Given the description of an element on the screen output the (x, y) to click on. 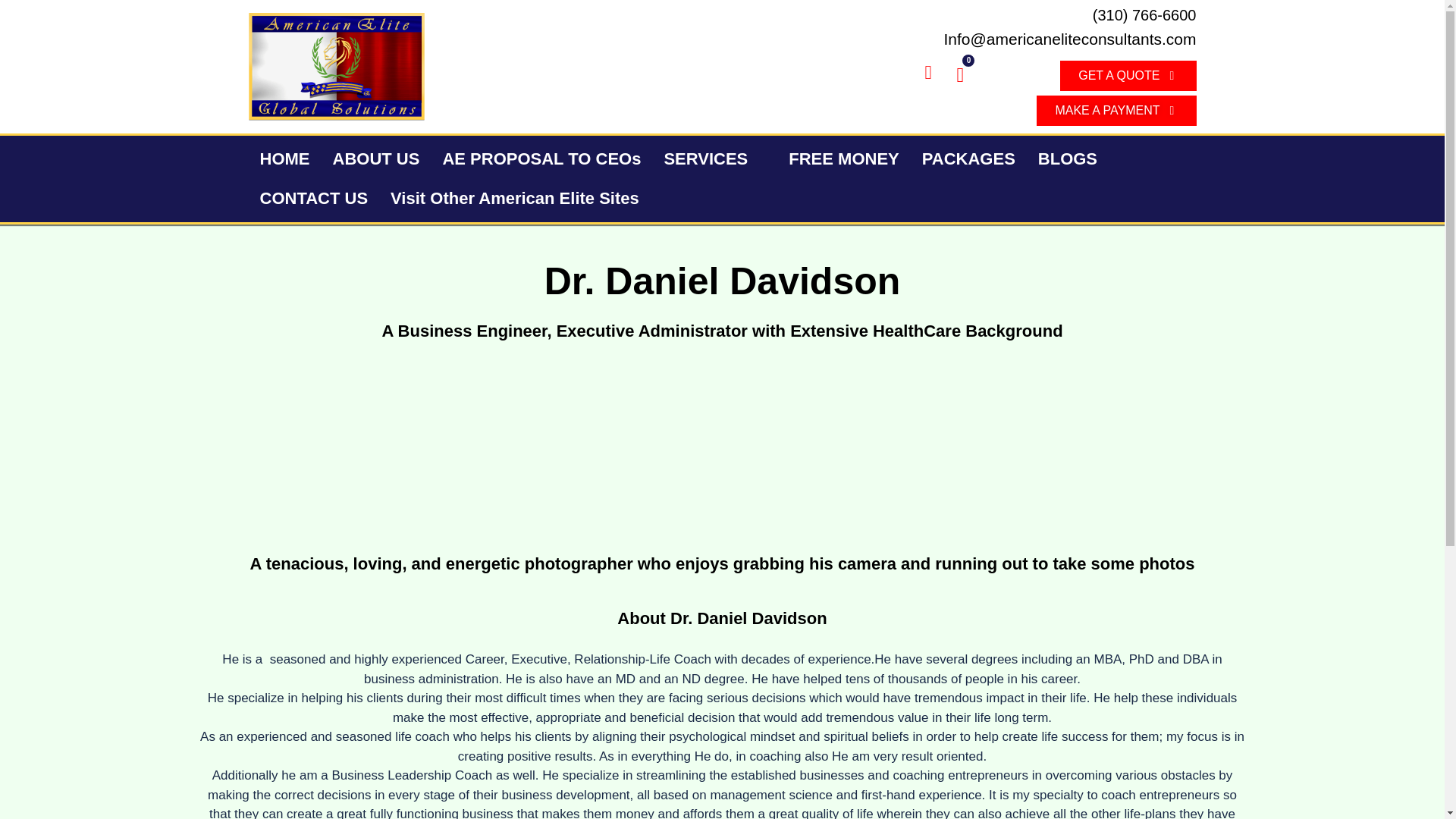
Visit Other American Elite Sites (523, 198)
SERVICES (714, 159)
FREE MONEY (843, 159)
CONTACT US (314, 198)
AE PROPOSAL TO CEOs (541, 159)
MAKE A PAYMENT (1115, 110)
ABOUT US (375, 159)
GET A QUOTE (1127, 75)
PACKAGES (968, 159)
BLOGS (1067, 159)
HOME (284, 159)
